Given the description of an element on the screen output the (x, y) to click on. 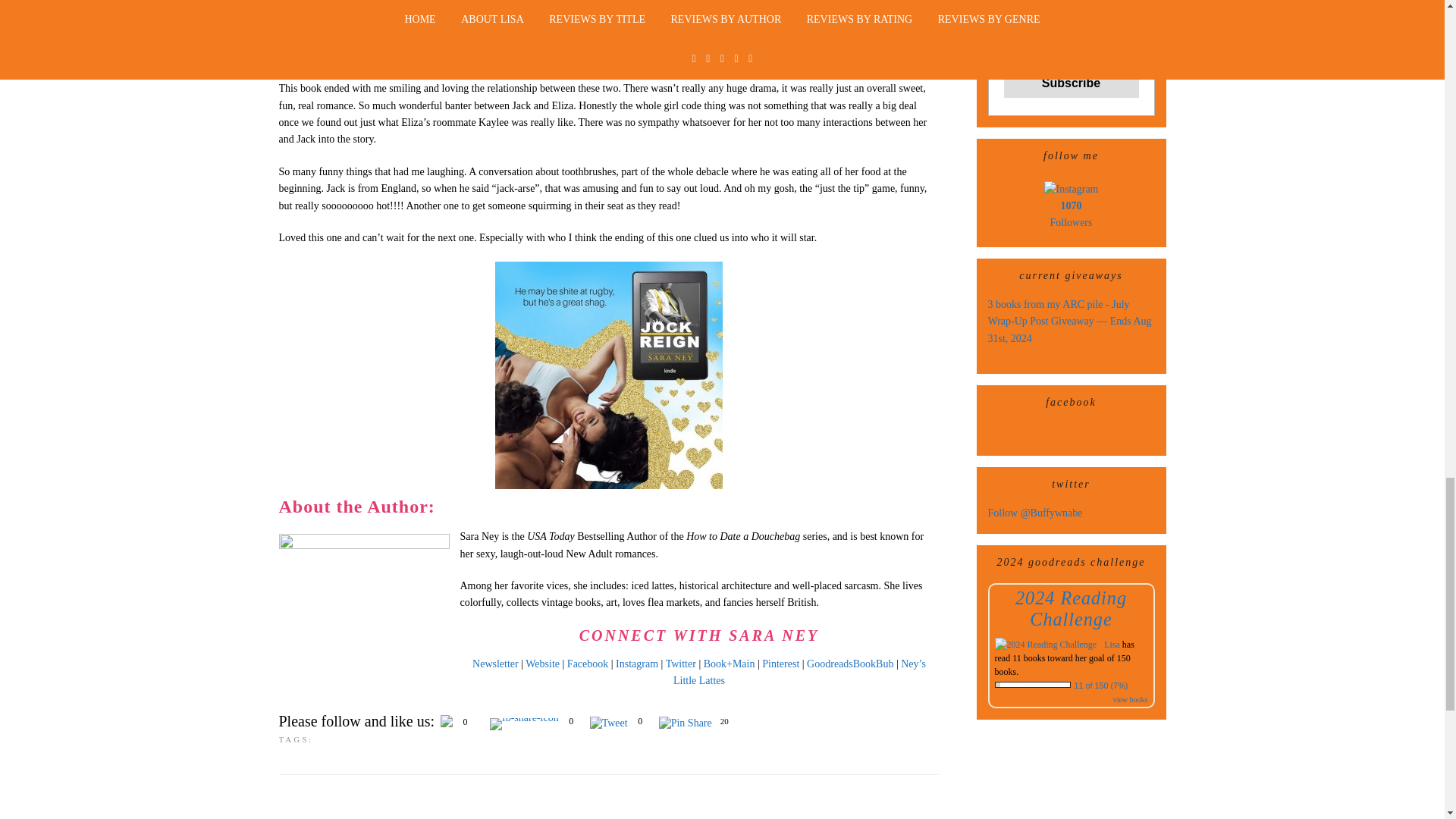
GoodreadsBookBub (849, 324)
click here (395, 690)
Website (542, 324)
Post Comment (319, 759)
Facebook Share (524, 384)
Instagram (636, 324)
Twitter (680, 324)
yes (283, 718)
Tweet (608, 383)
Post Comment (319, 759)
